Given the description of an element on the screen output the (x, y) to click on. 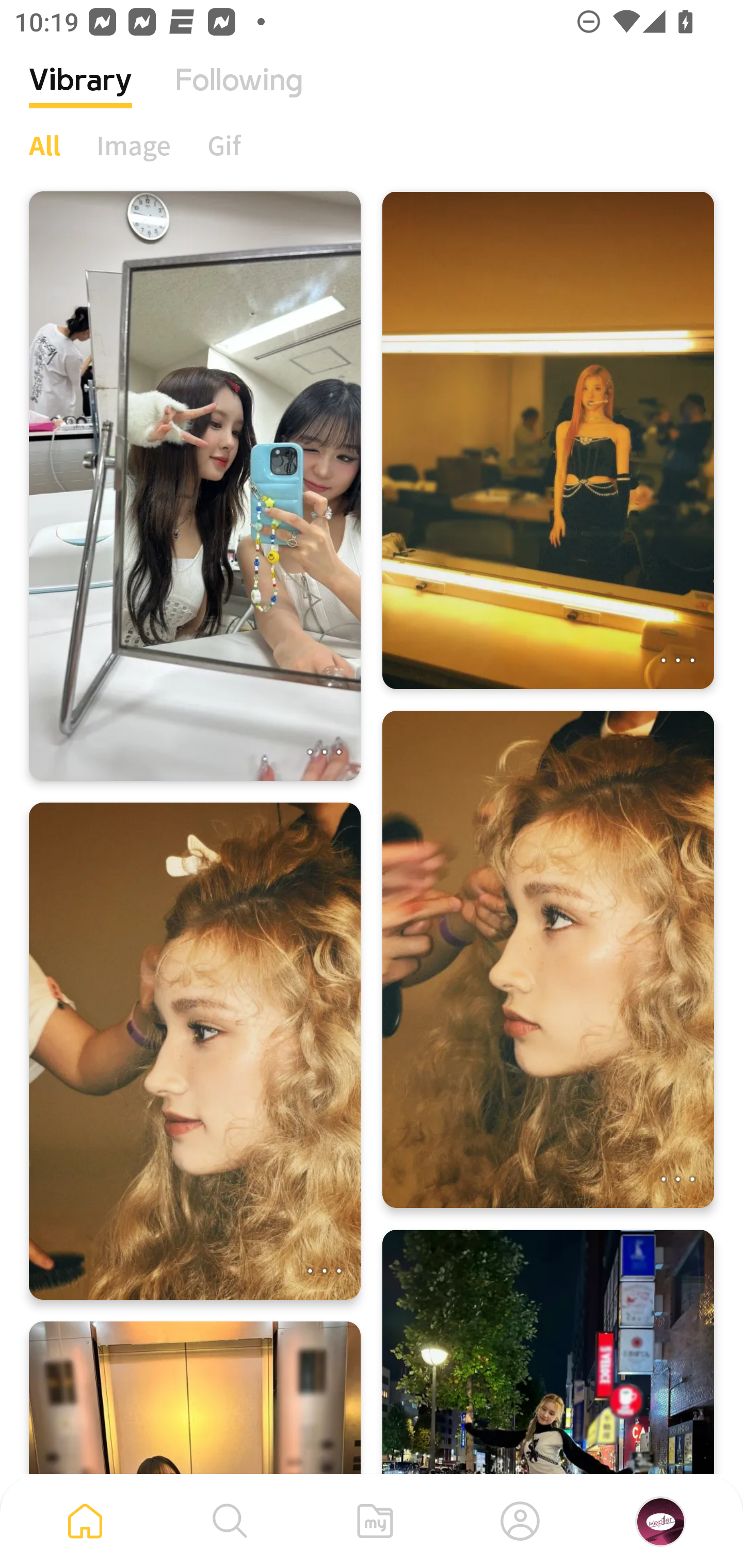
Vibrary (80, 95)
Following (239, 95)
All (44, 145)
Image (133, 145)
Gif (223, 145)
